Given the description of an element on the screen output the (x, y) to click on. 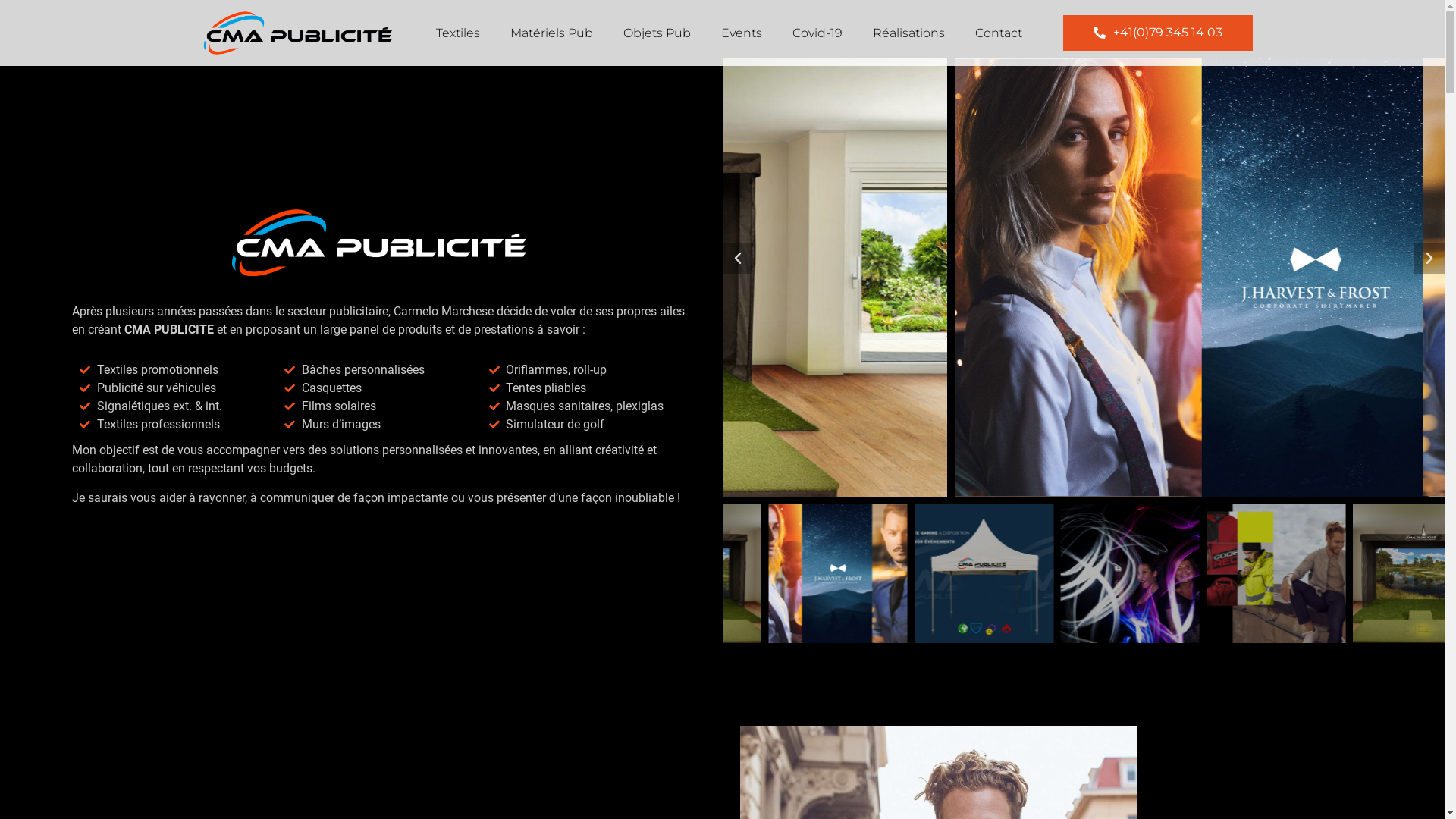
Textiles Element type: text (457, 32)
+41(0)79 345 14 03 Element type: text (1157, 32)
Events Element type: text (740, 32)
Masques sanitaires, plexiglas Element type: text (583, 406)
Covid-19 Element type: text (816, 32)
Casquettes Element type: text (378, 388)
Contact Element type: text (998, 32)
Tentes pliables Element type: text (583, 388)
Objets Pub Element type: text (657, 32)
Textiles professionnels Element type: text (174, 424)
Oriflammes, roll-up Element type: text (583, 369)
Simulateur de golf Element type: text (583, 424)
Films solaires Element type: text (378, 406)
Textiles promotionnels Element type: text (174, 369)
